Given the description of an element on the screen output the (x, y) to click on. 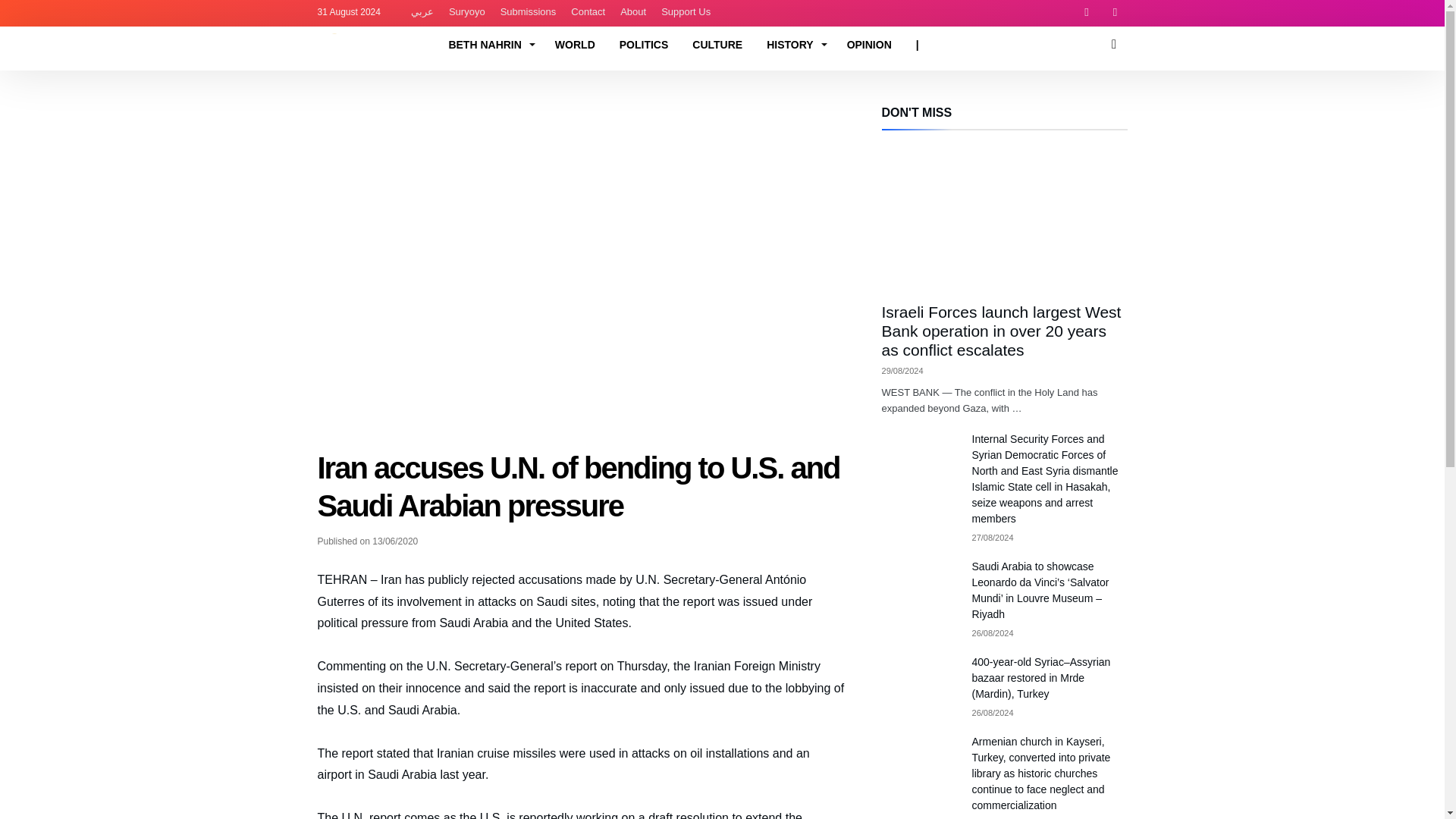
Twitter (1114, 13)
OPINION (869, 44)
Submissions (528, 12)
About (632, 12)
SyriacPress (368, 30)
HISTORY (794, 44)
Facebook (1086, 13)
Suryoyo (467, 12)
Support Us (685, 12)
CULTURE (716, 44)
